Given the description of an element on the screen output the (x, y) to click on. 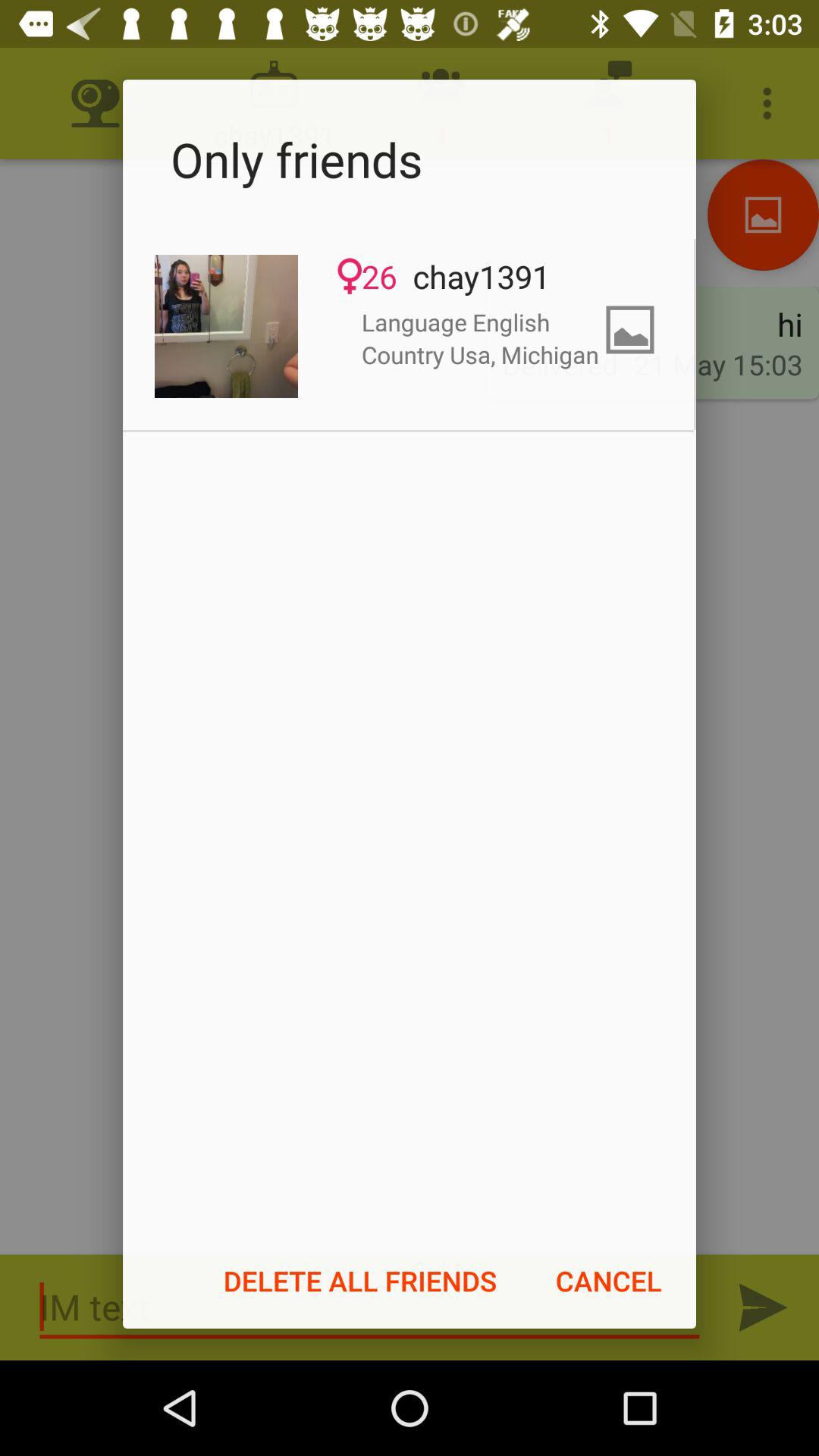
tap item at the bottom right corner (608, 1280)
